Given the description of an element on the screen output the (x, y) to click on. 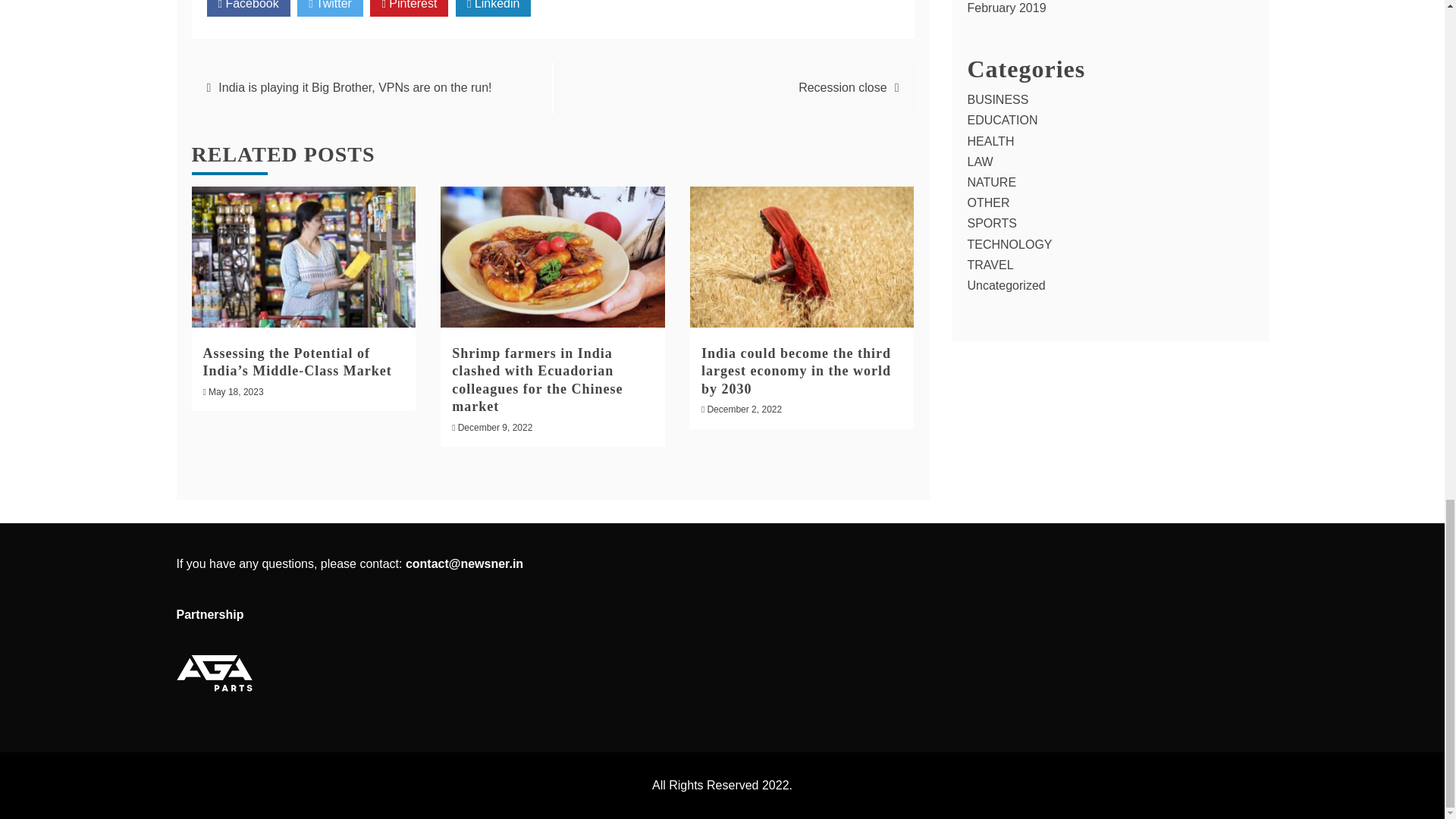
Twitter (329, 8)
Linkedin (493, 8)
December 2, 2022 (743, 409)
Pinterest (408, 8)
Facebook (247, 8)
India is playing it Big Brother, VPNs are on the run! (355, 87)
May 18, 2023 (235, 391)
December 9, 2022 (495, 427)
